Given the description of an element on the screen output the (x, y) to click on. 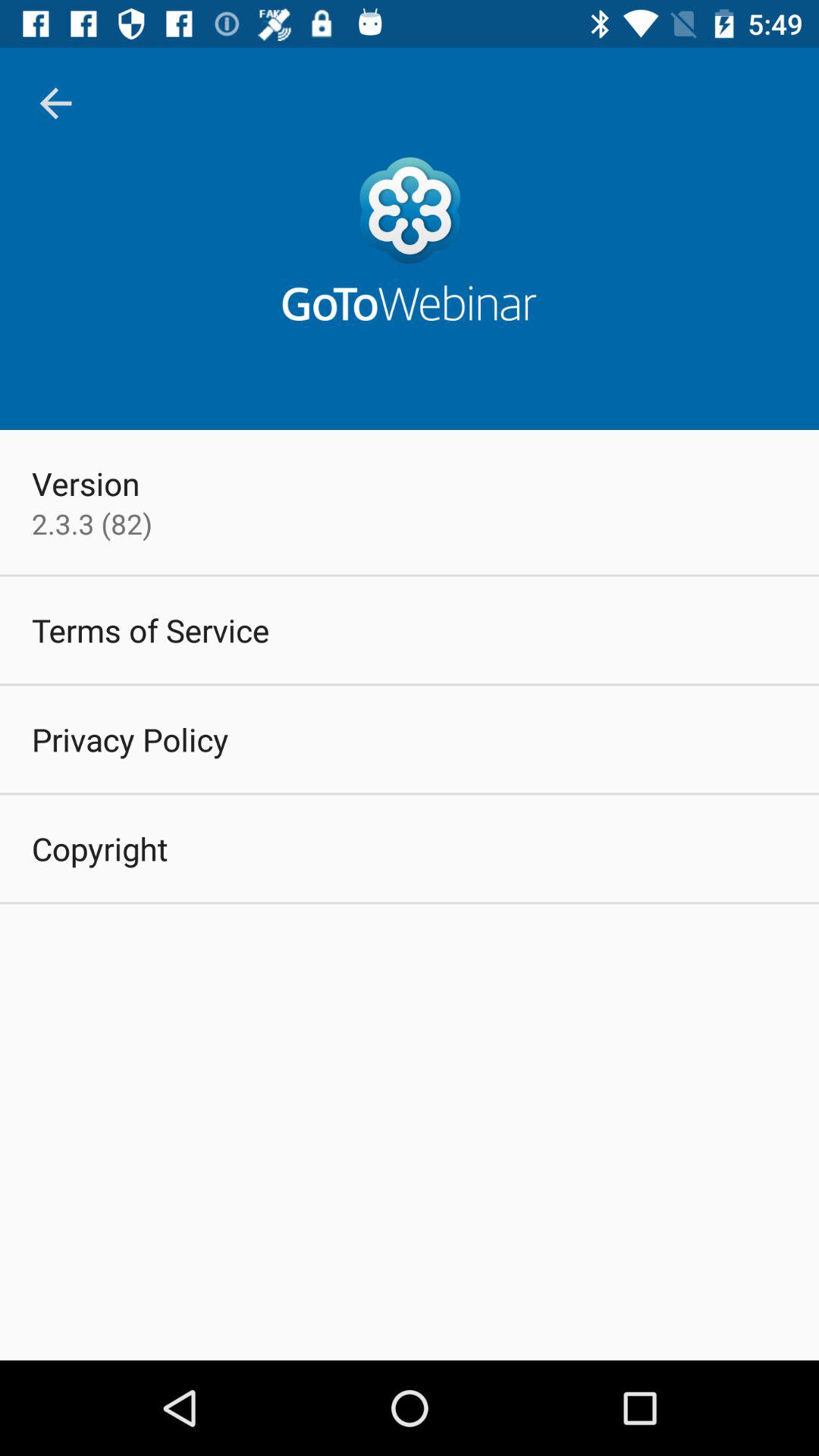
click the item below version (91, 523)
